Given the description of an element on the screen output the (x, y) to click on. 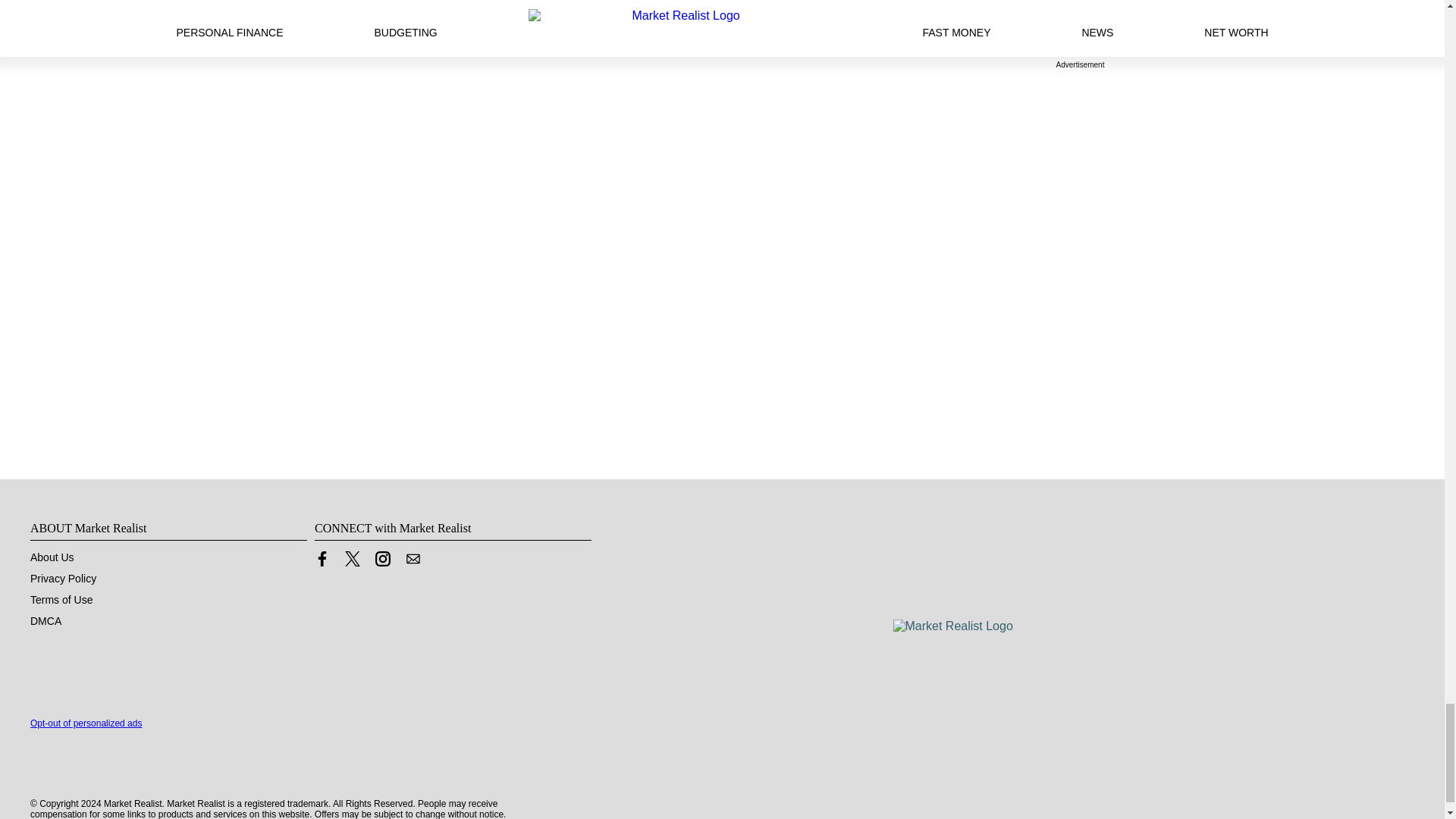
Opt-out of personalized ads (85, 723)
Link to X (352, 558)
DMCA (45, 621)
Terms of Use (61, 599)
Link to Instagram (382, 558)
Privacy Policy (63, 578)
Privacy Policy (63, 578)
Terms of Use (61, 599)
Link to X (352, 562)
Contact us by Email (413, 562)
